Given the description of an element on the screen output the (x, y) to click on. 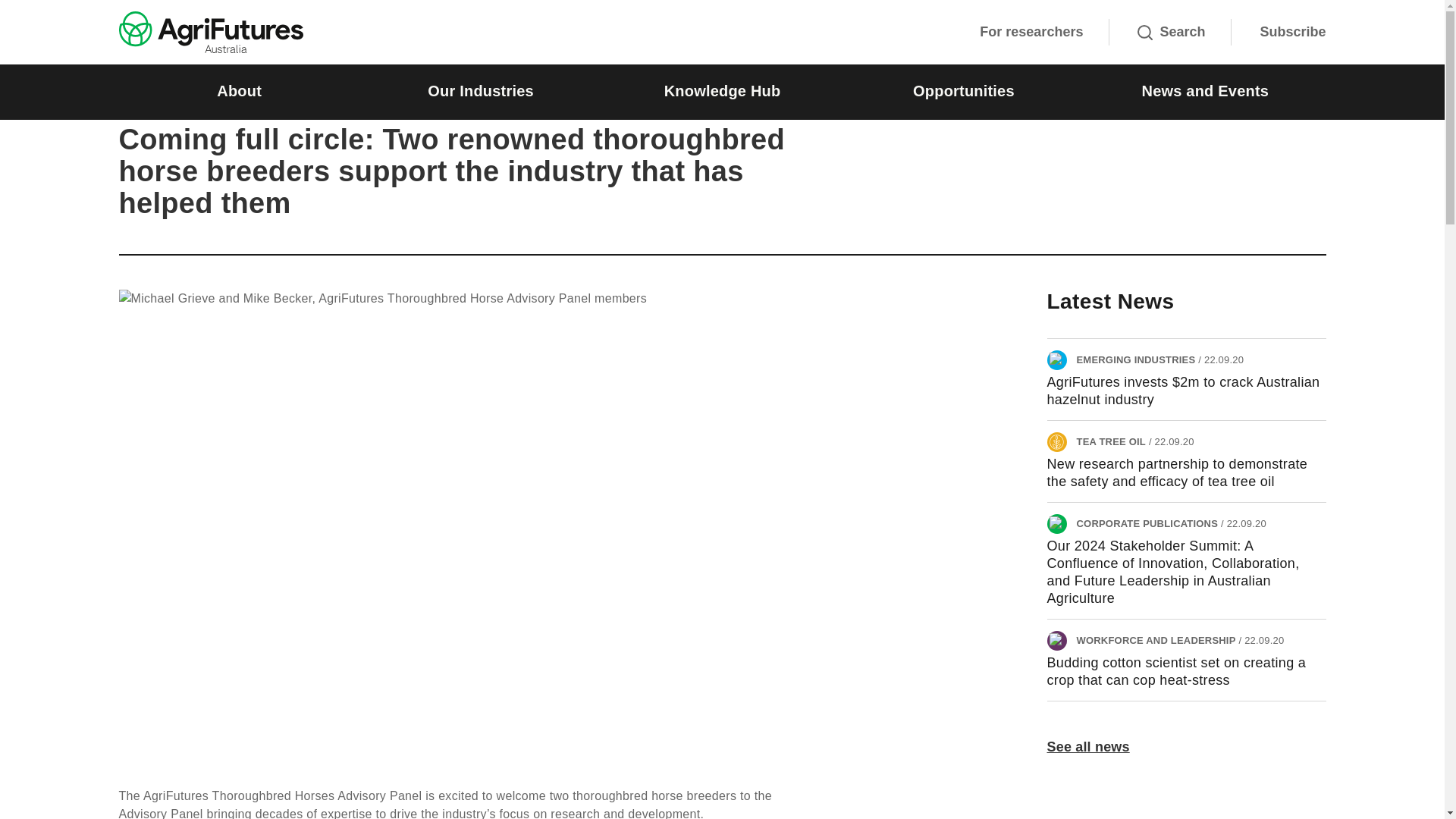
Share on LinkedIn (1209, 100)
Share Link (1279, 100)
Knowledge Hub (722, 91)
Print (1315, 100)
Share on Twitter (1149, 100)
Share via Email (1243, 100)
Our Industries (480, 91)
Subscribe (1291, 31)
For researchers (1031, 31)
Search (1171, 31)
